Given the description of an element on the screen output the (x, y) to click on. 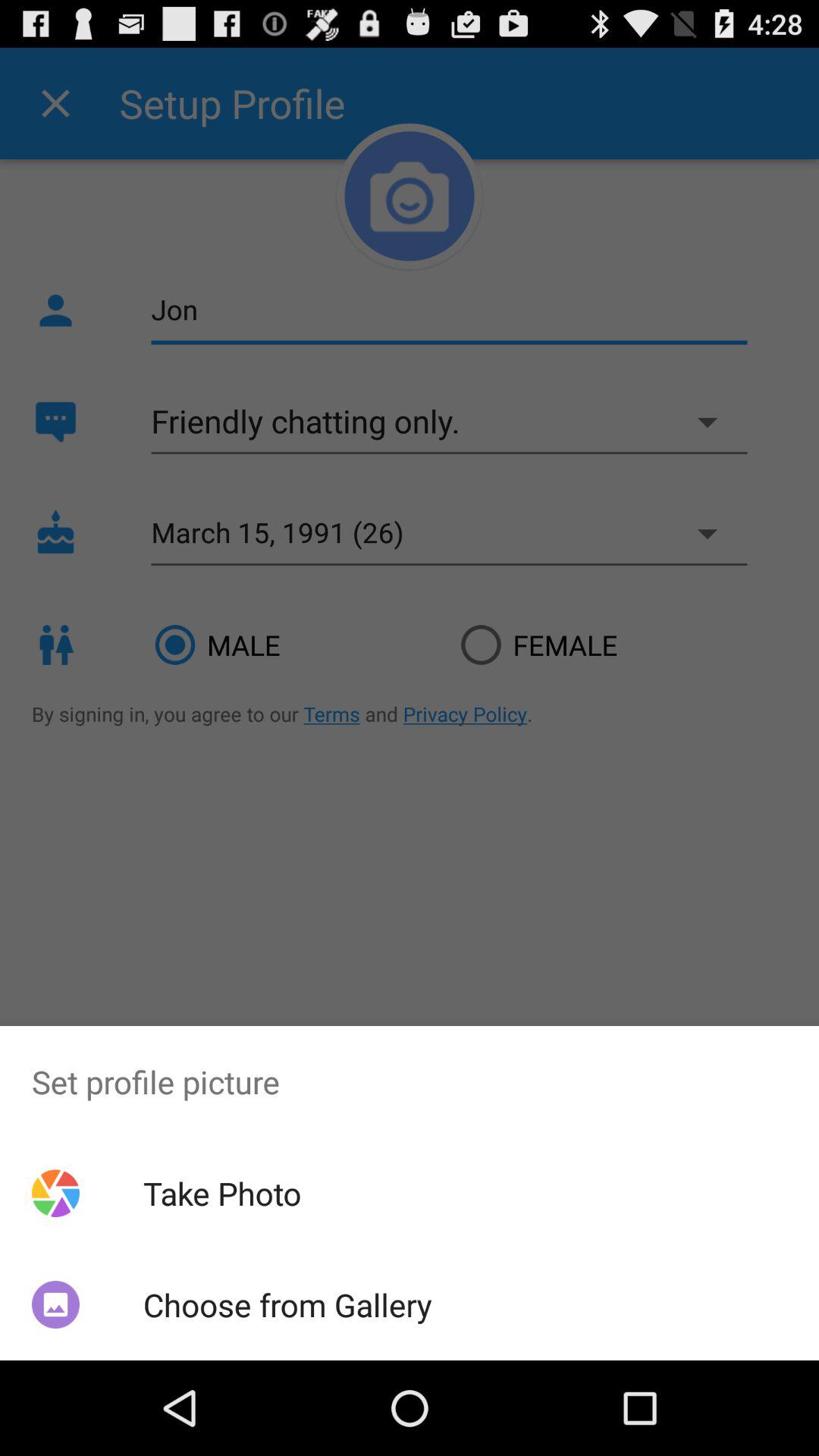
launch icon at the center (409, 703)
